Given the description of an element on the screen output the (x, y) to click on. 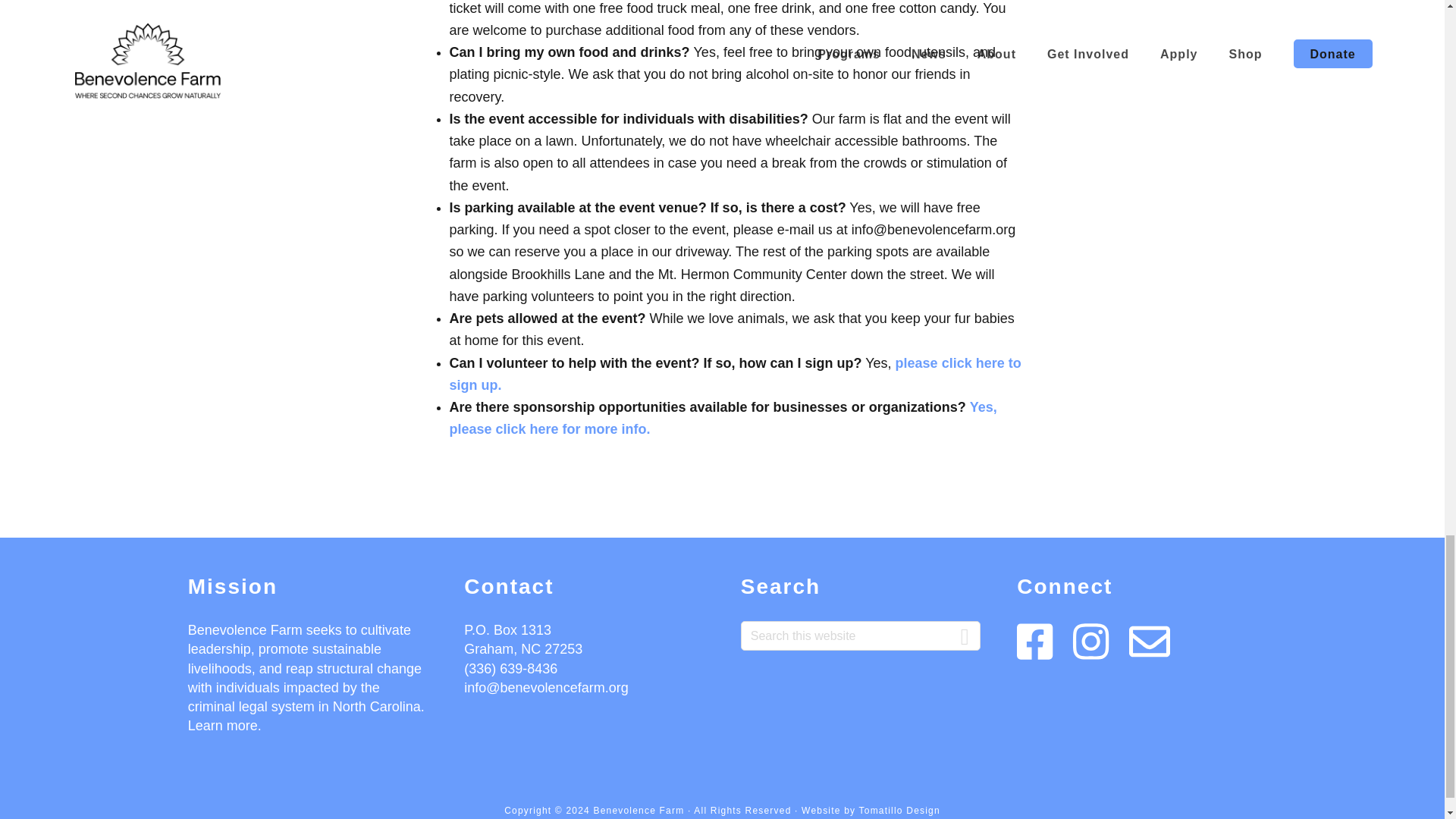
Amazing, Affordable Websites for Nonprofits (899, 810)
Search (964, 628)
Search (964, 628)
